Given the description of an element on the screen output the (x, y) to click on. 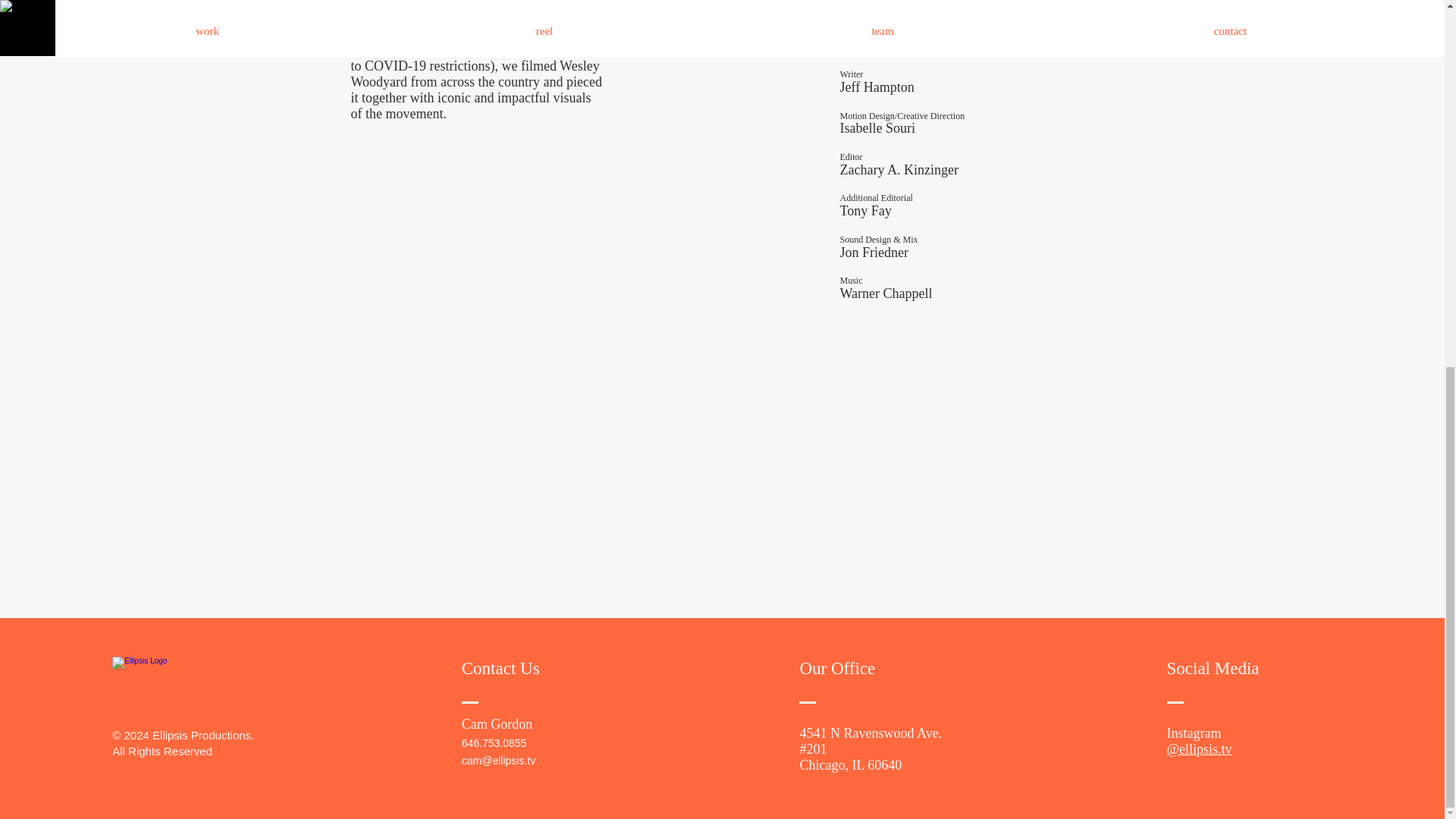
646.753.0855 (494, 743)
